Given the description of an element on the screen output the (x, y) to click on. 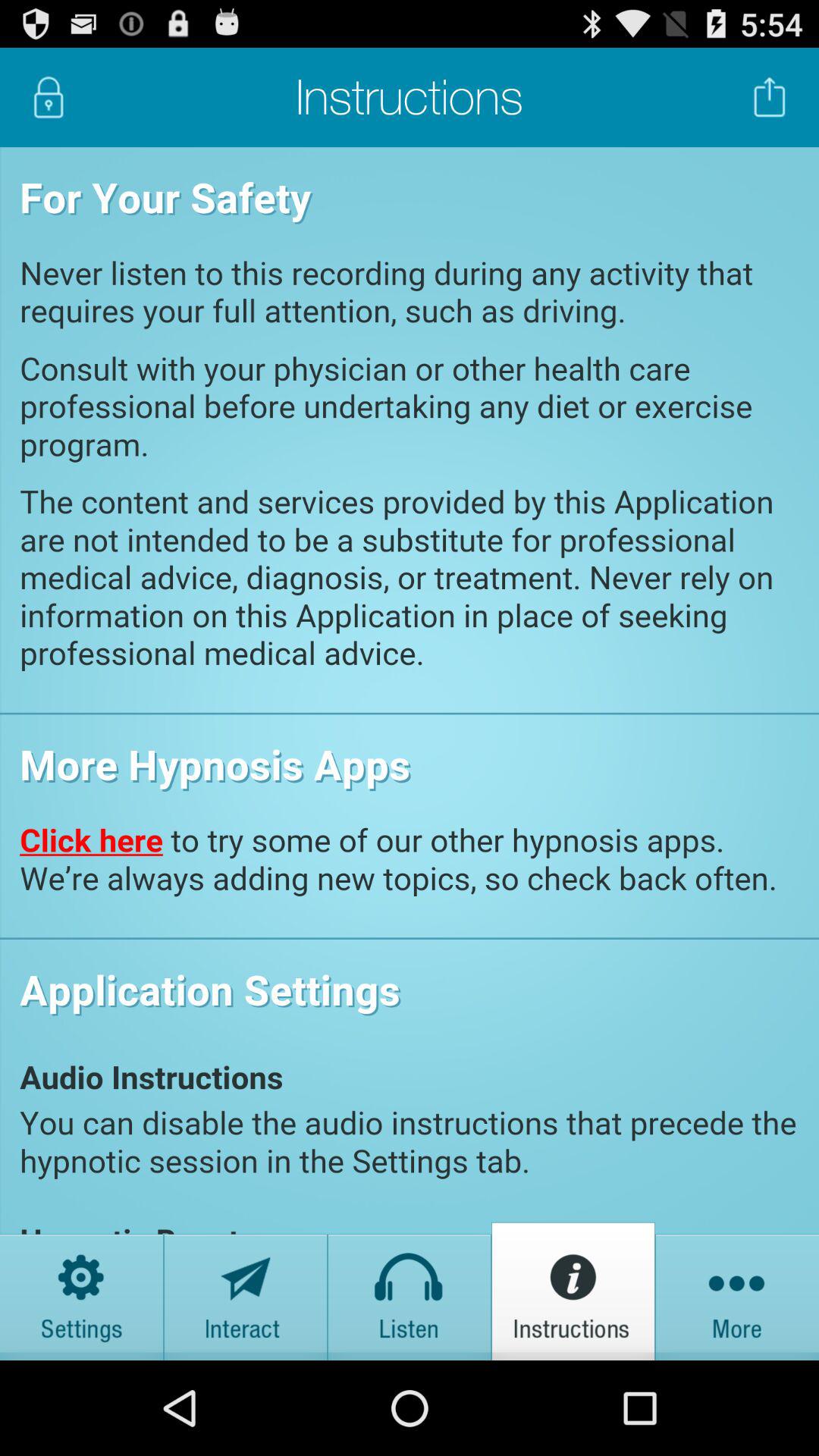
click for more options (737, 1290)
